Given the description of an element on the screen output the (x, y) to click on. 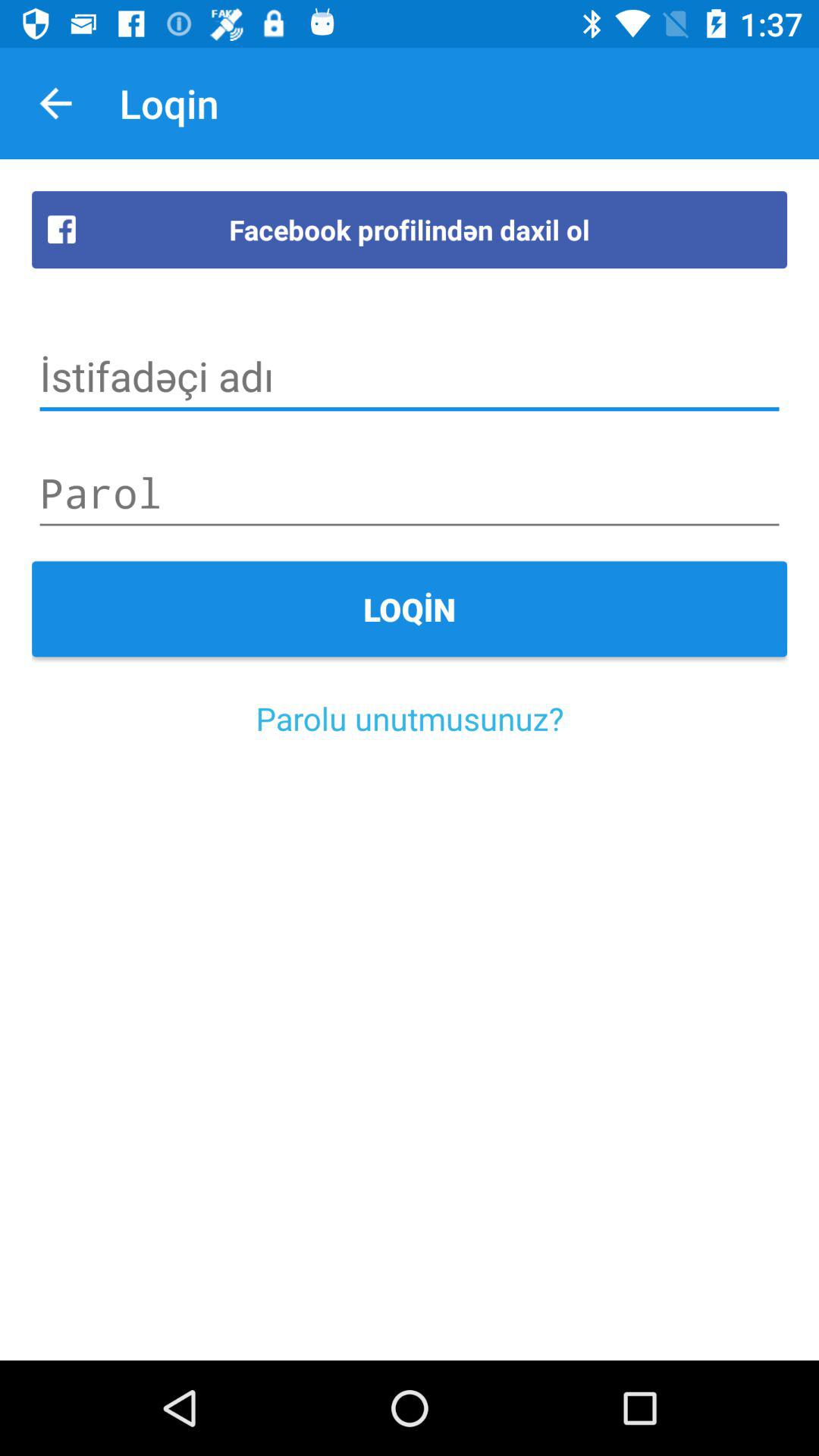
select the item to the left of the loqin (55, 103)
